Given the description of an element on the screen output the (x, y) to click on. 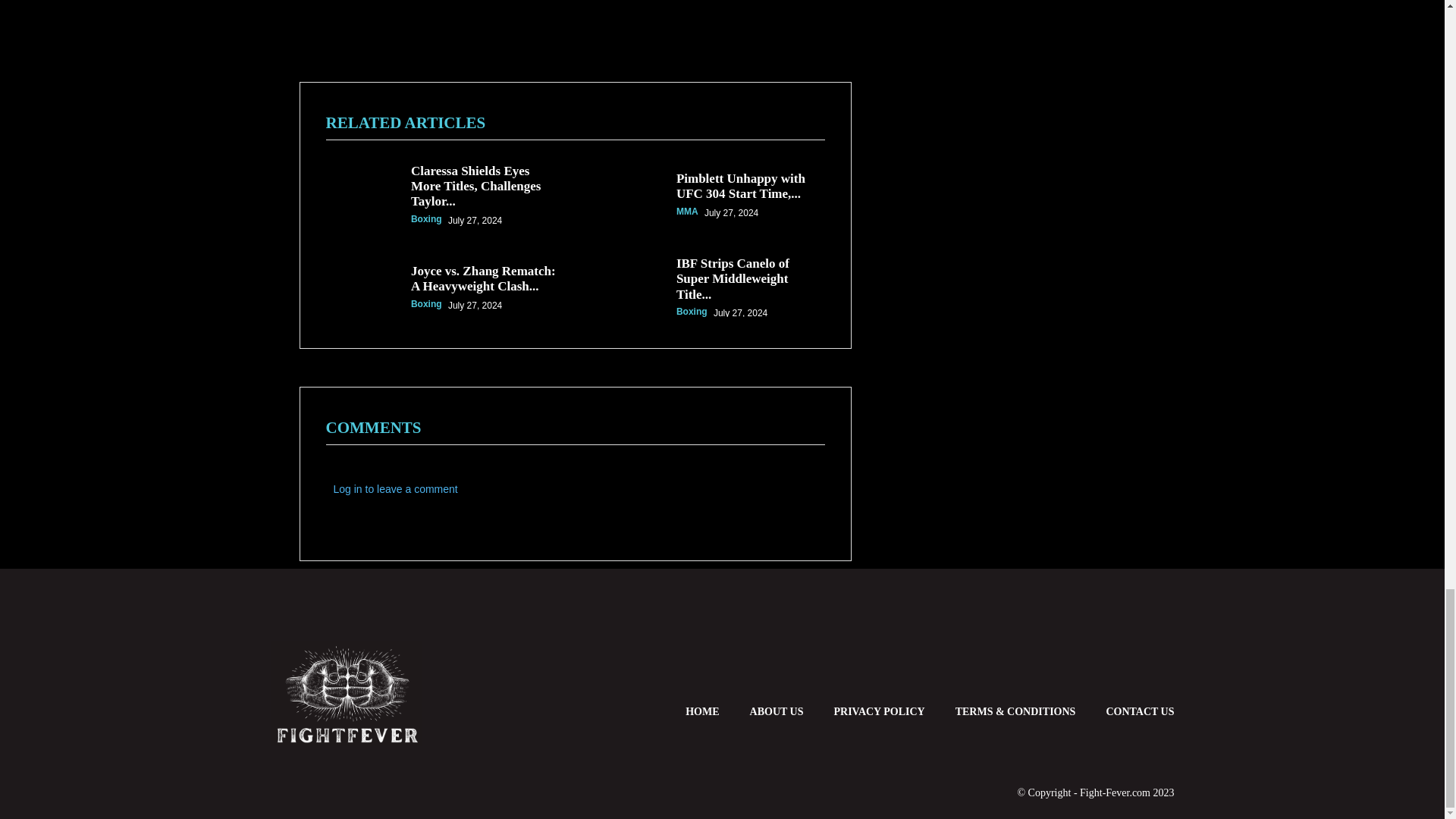
Post Comment (378, 484)
Cameron Triumphs Over Mekhaled in Impressive Comeback (746, 47)
yes (331, 448)
Boxing (692, 80)
Post Comment (378, 484)
Boxing (426, 71)
